Given the description of an element on the screen output the (x, y) to click on. 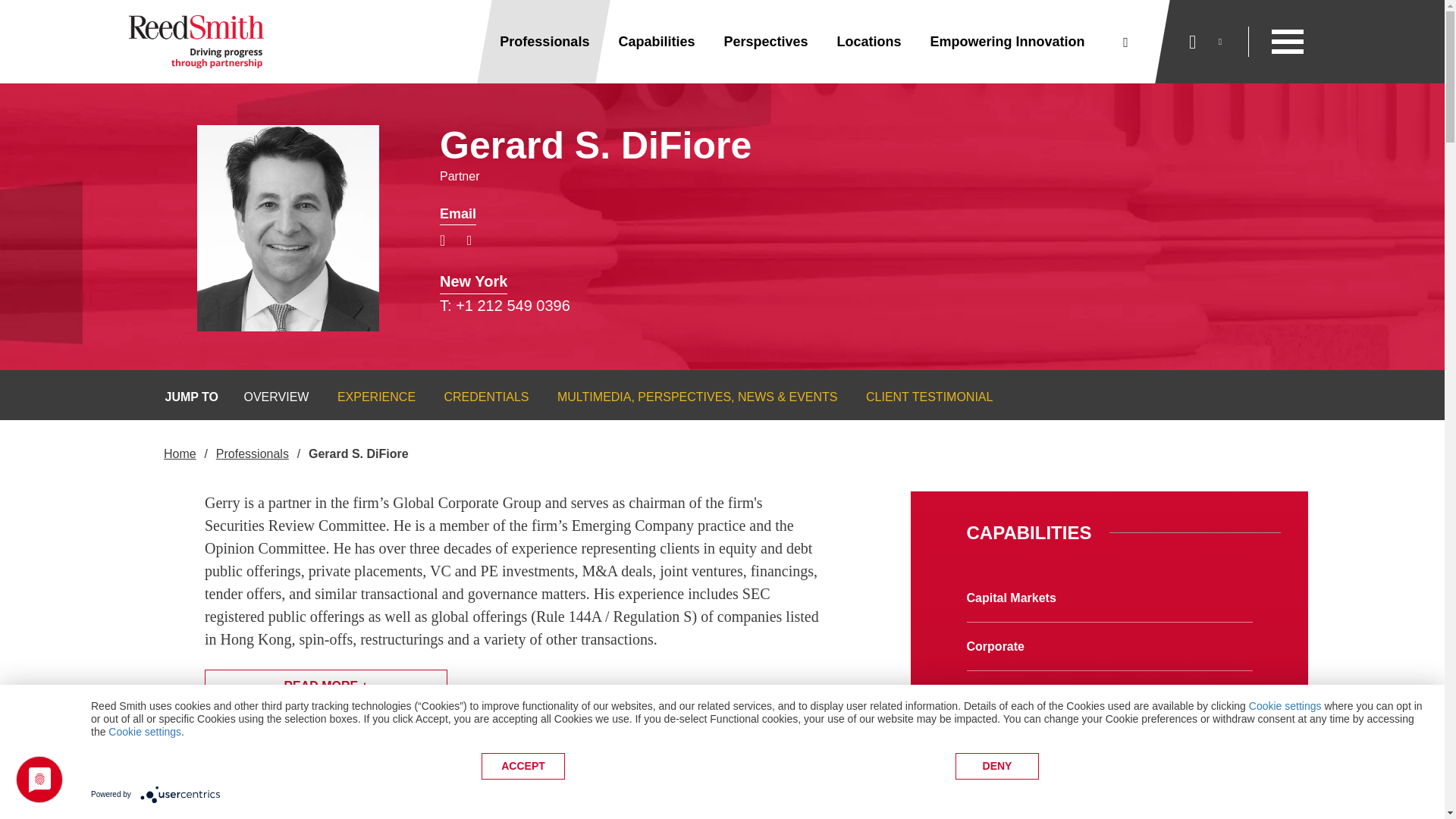
Jump to Experience Section (367, 396)
CREDENTIALS (476, 396)
EXPERIENCE (367, 396)
Jump to Client Testimonial Section (919, 396)
CREDENTIALS (486, 396)
CLIENT TESTIMONIAL (929, 396)
Jump to Credentials Section (476, 396)
Professionals (544, 41)
EXPERIENCE (367, 396)
CREDENTIALS (476, 396)
Jump to Client Testimonial Section (929, 396)
Jump to Overview Section (266, 396)
Send an email to Gerard S. DiFiore (457, 214)
OVERVIEW (266, 396)
JUMP TO (192, 396)
